Given the description of an element on the screen output the (x, y) to click on. 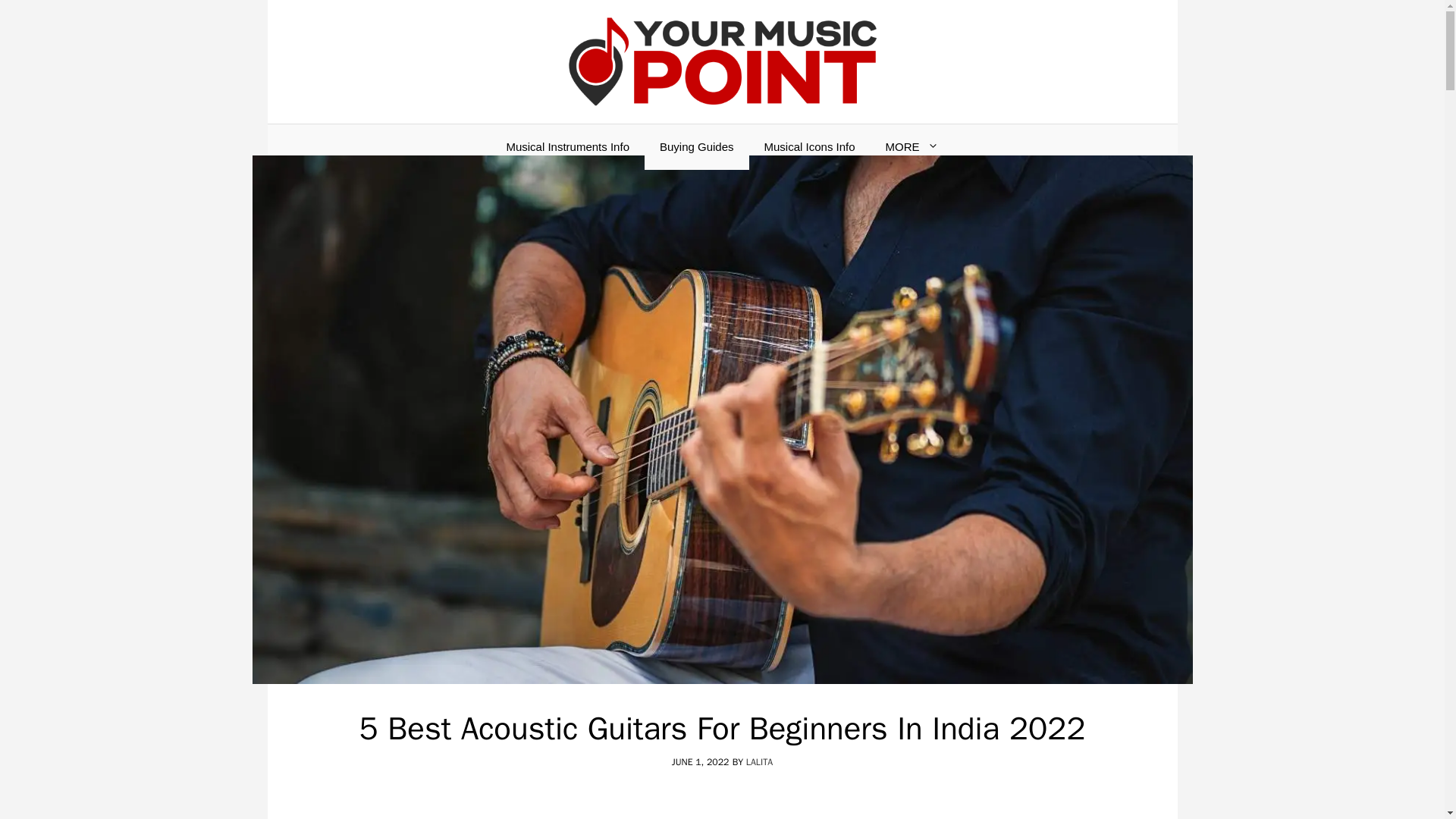
Advertisement (722, 807)
Musical Icons Info (809, 146)
MORE (911, 146)
Buying Guides (697, 146)
Musical Instruments Info (567, 146)
View all posts by Lalita (759, 761)
LALITA (759, 761)
